Given the description of an element on the screen output the (x, y) to click on. 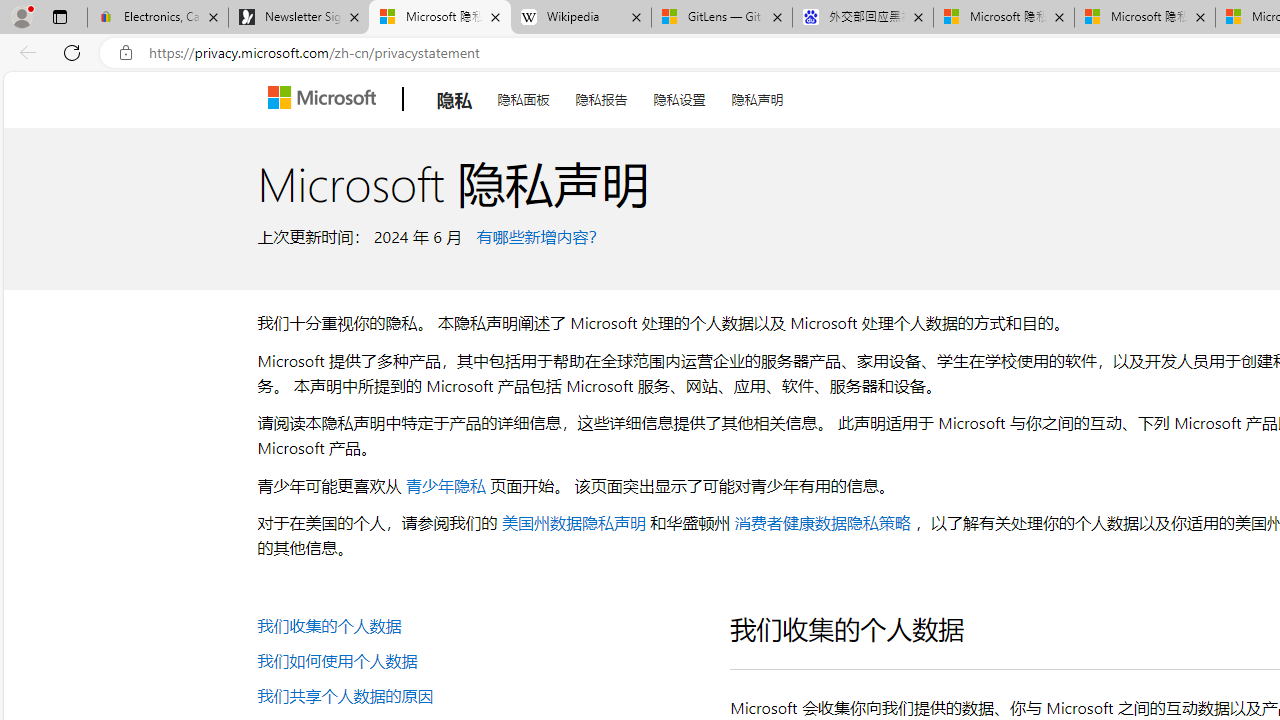
Wikipedia (580, 17)
Newsletter Sign Up (298, 17)
